Given the description of an element on the screen output the (x, y) to click on. 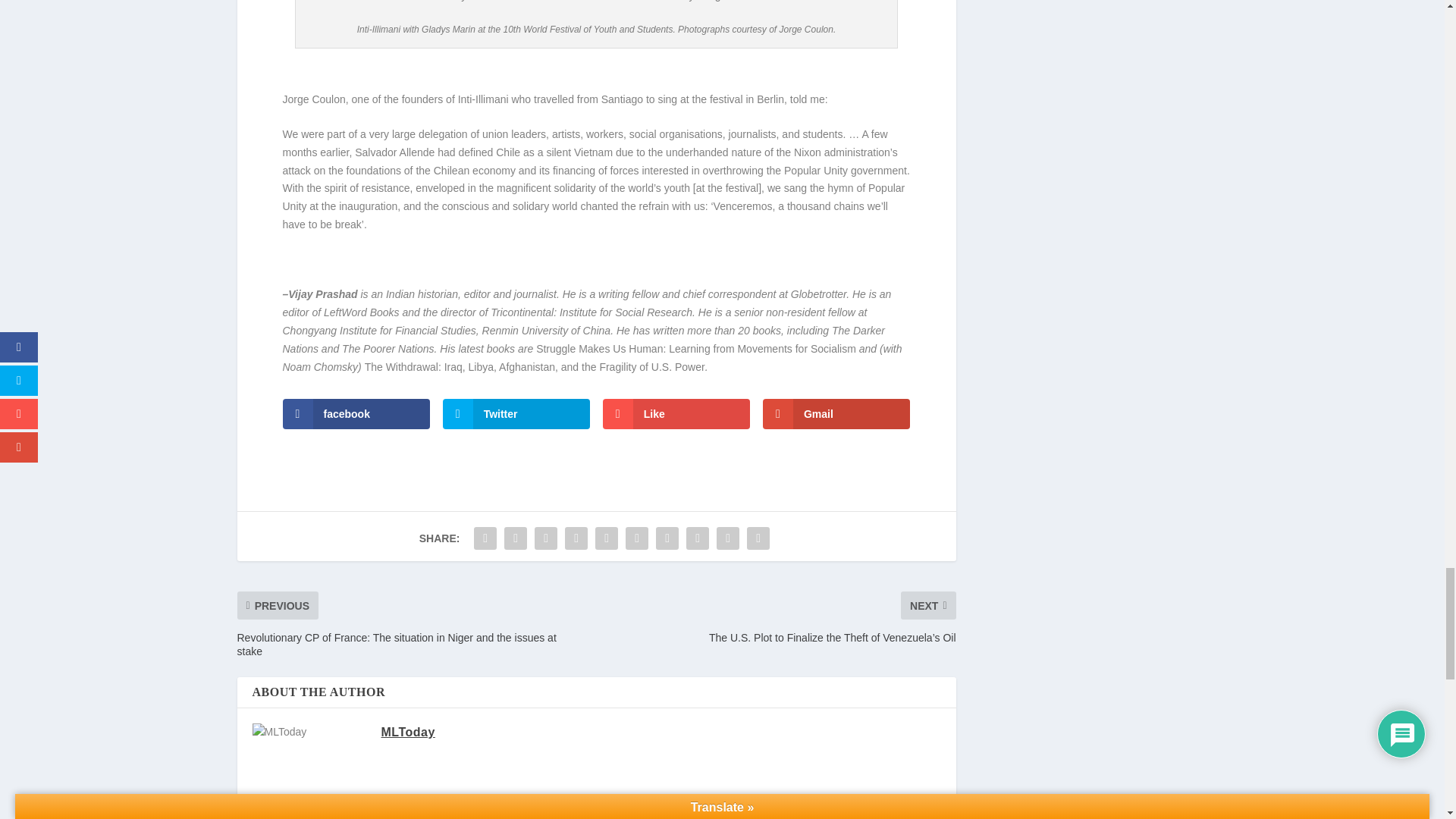
Share "Build the Unity of the Youth of the World" via Buffer (667, 538)
Share "Build the Unity of the Youth of the World" via Tumblr (575, 538)
